Given the description of an element on the screen output the (x, y) to click on. 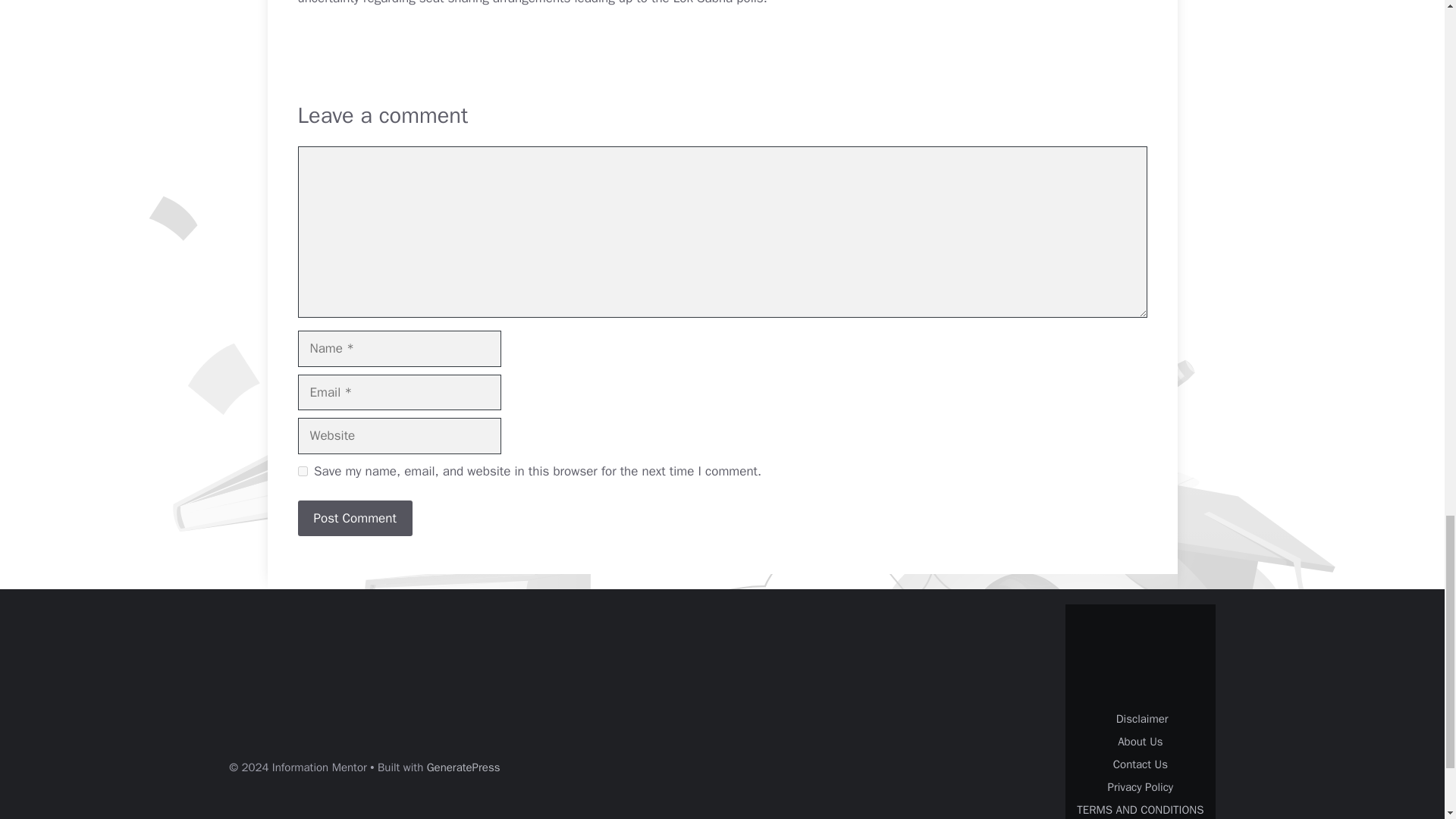
TERMS AND CONDITIONS (1140, 809)
Contact Us (1140, 764)
About Us (1139, 741)
Post Comment (354, 518)
Post Comment (354, 518)
Privacy Policy (1140, 786)
yes (302, 470)
GeneratePress (463, 766)
 Disclaimer (1139, 718)
